Given the description of an element on the screen output the (x, y) to click on. 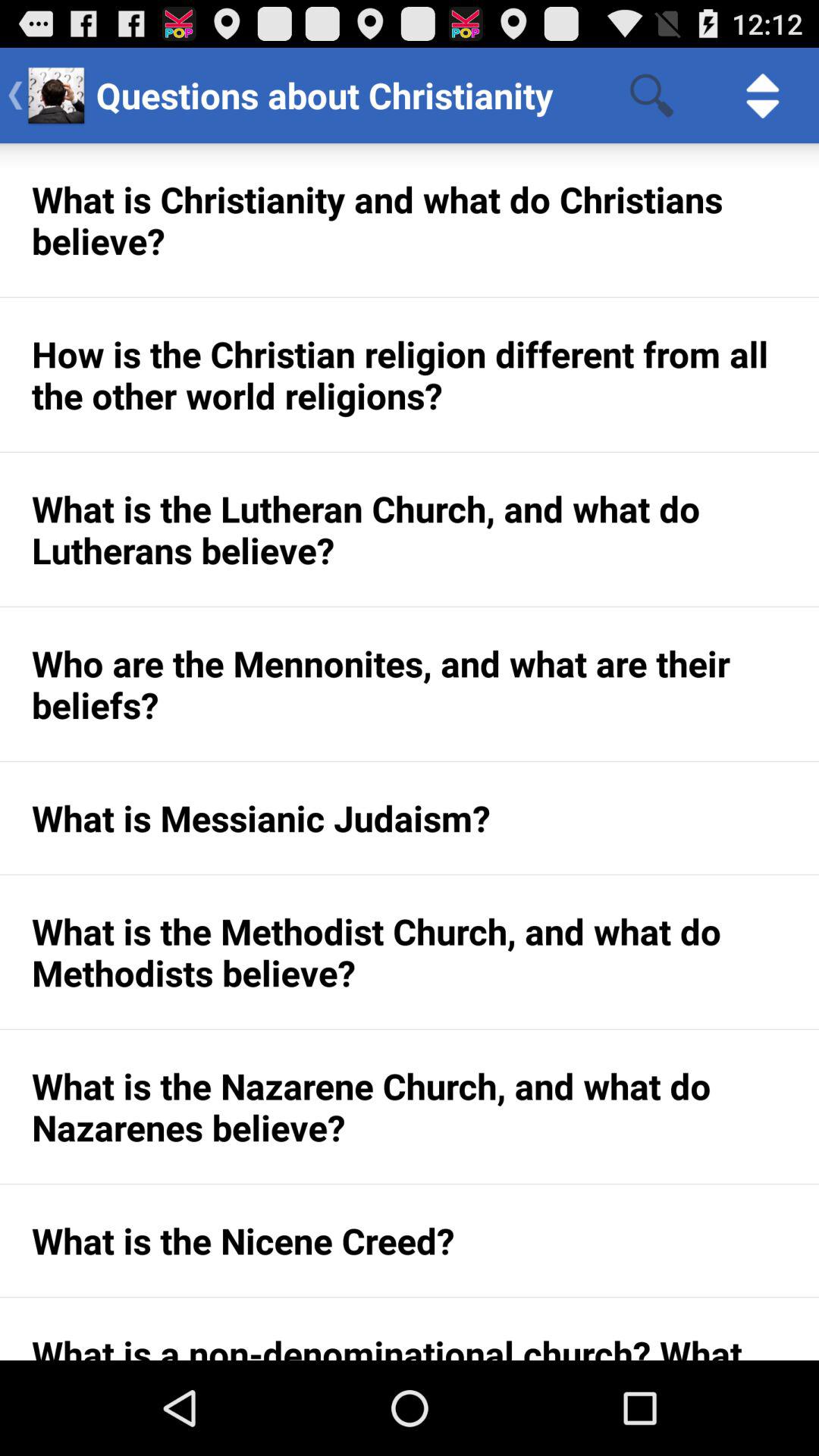
flip until who are the item (409, 683)
